Given the description of an element on the screen output the (x, y) to click on. 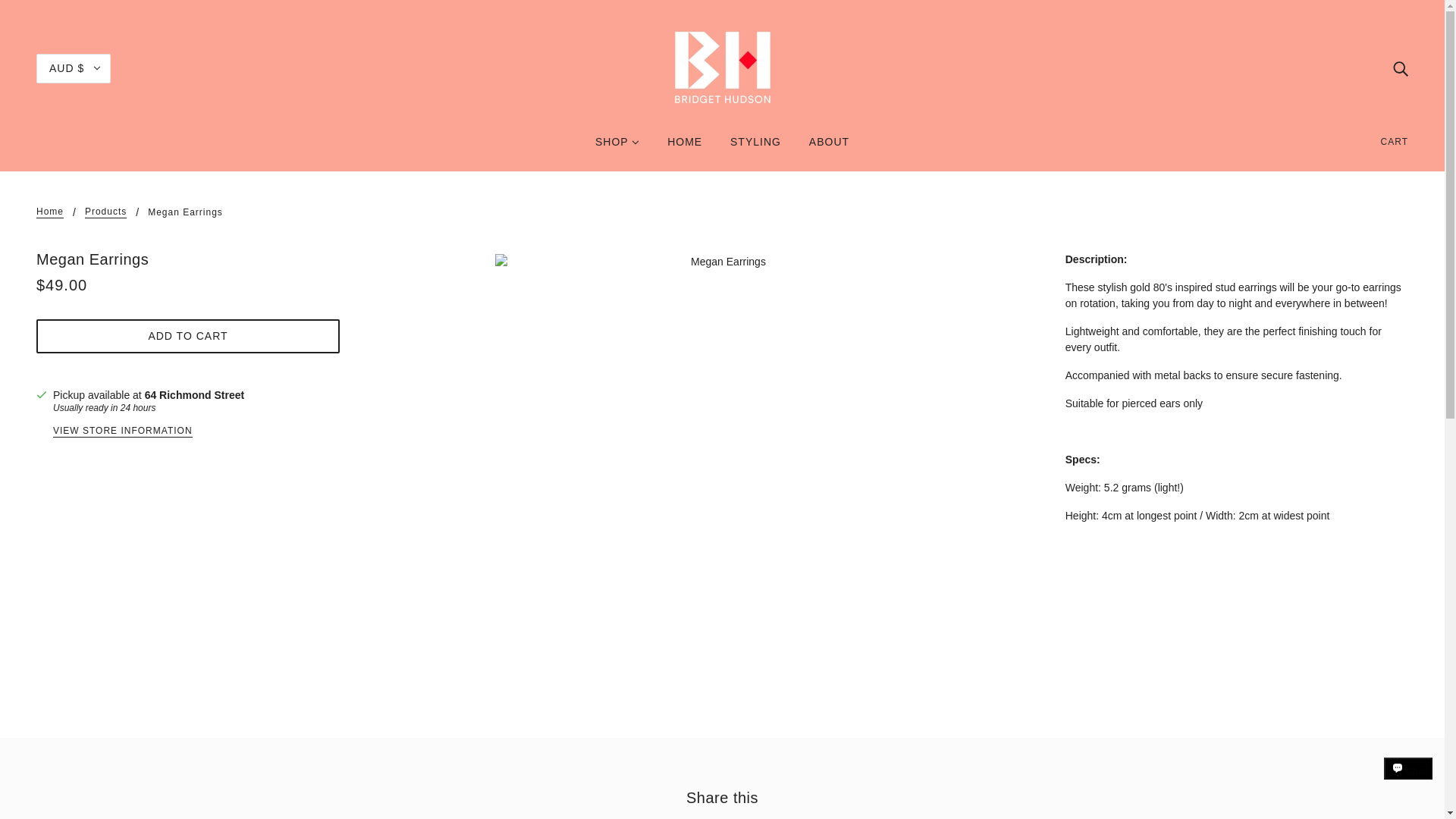
Shopify online store chat (1408, 781)
Bridget Hudson (722, 67)
